Given the description of an element on the screen output the (x, y) to click on. 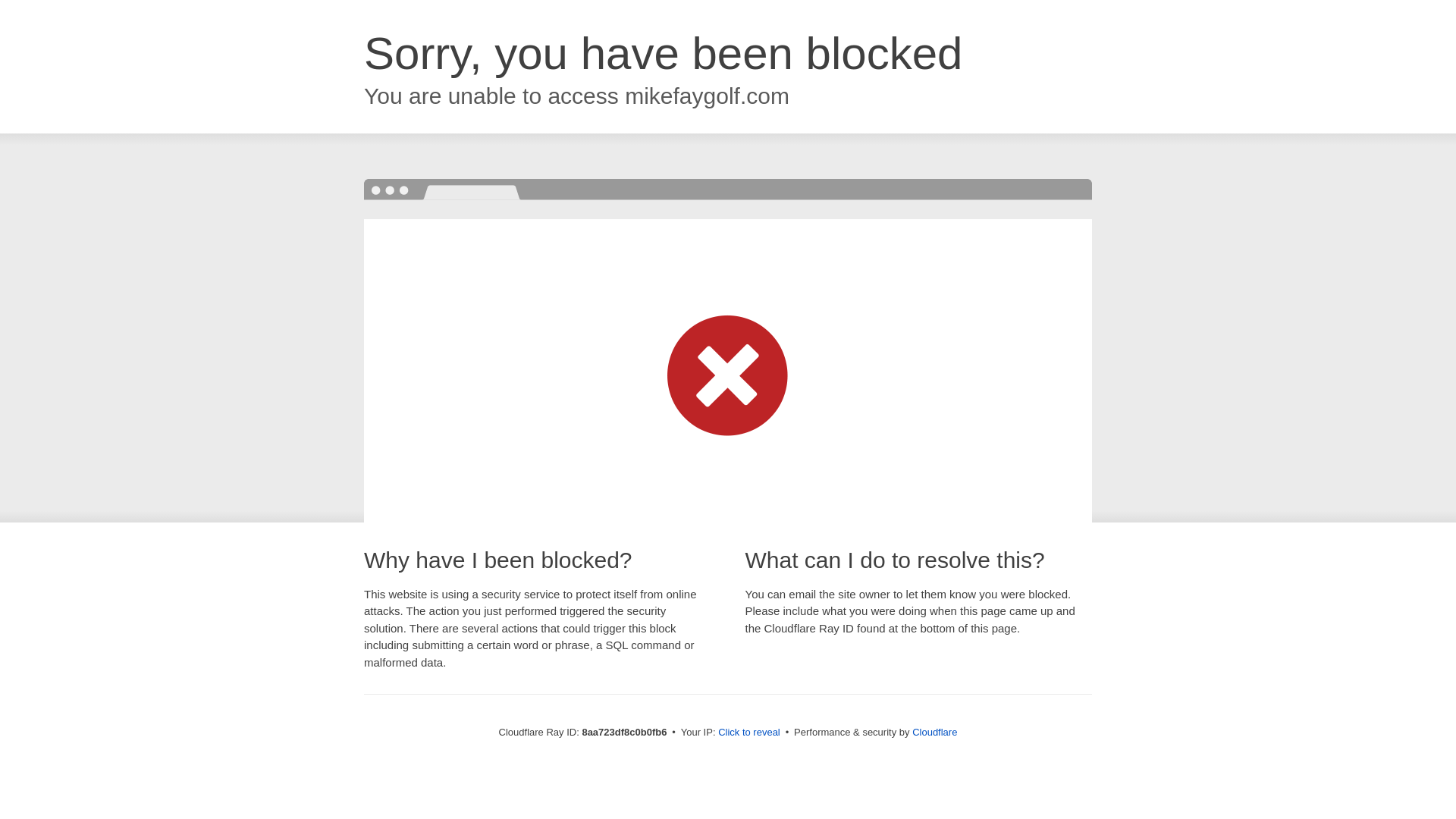
Click to reveal (748, 732)
Cloudflare (934, 731)
